Given the description of an element on the screen output the (x, y) to click on. 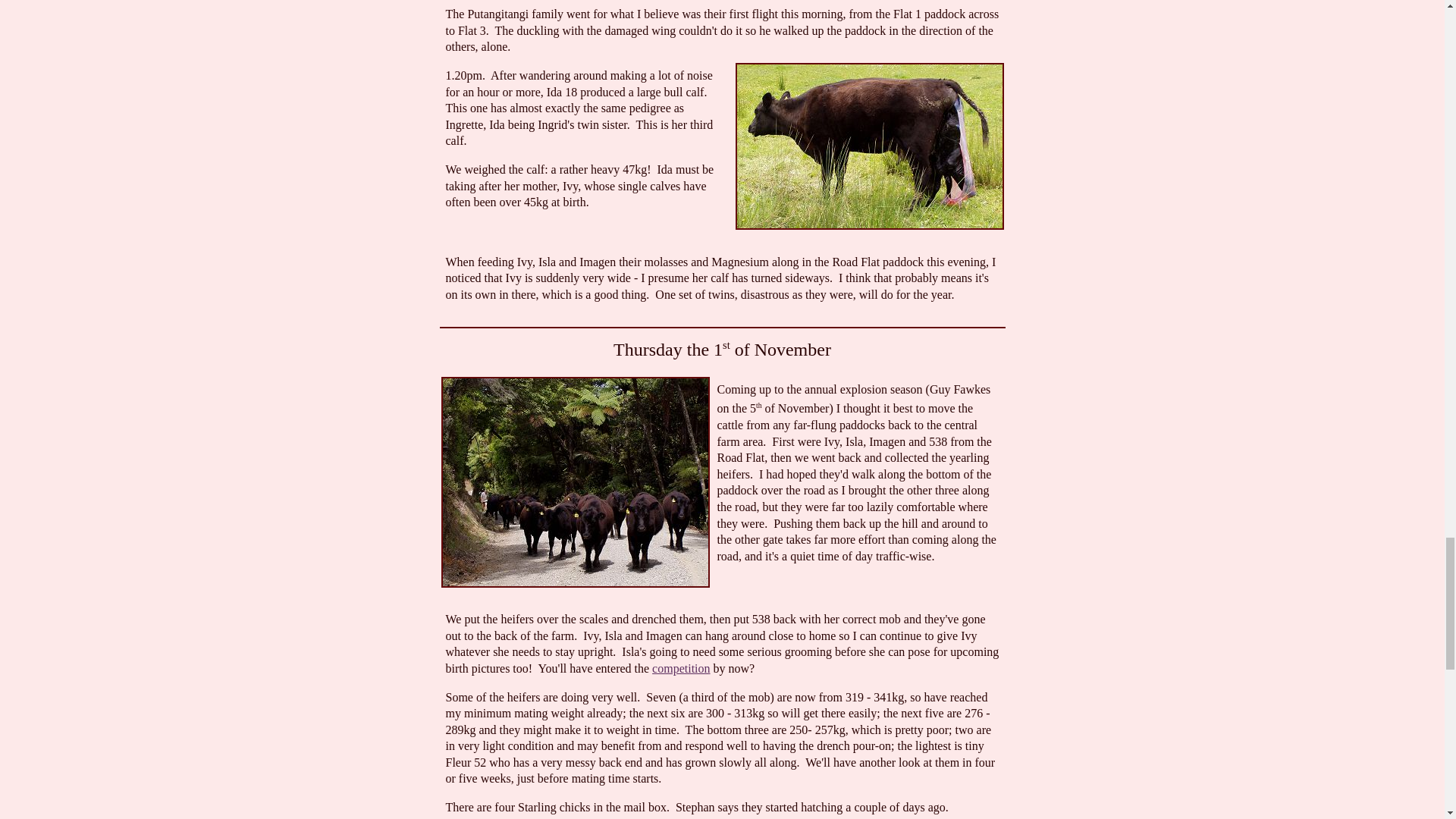
R1 heifers on the road (575, 482)
Ida, calving (869, 146)
competition (681, 667)
